Given the description of an element on the screen output the (x, y) to click on. 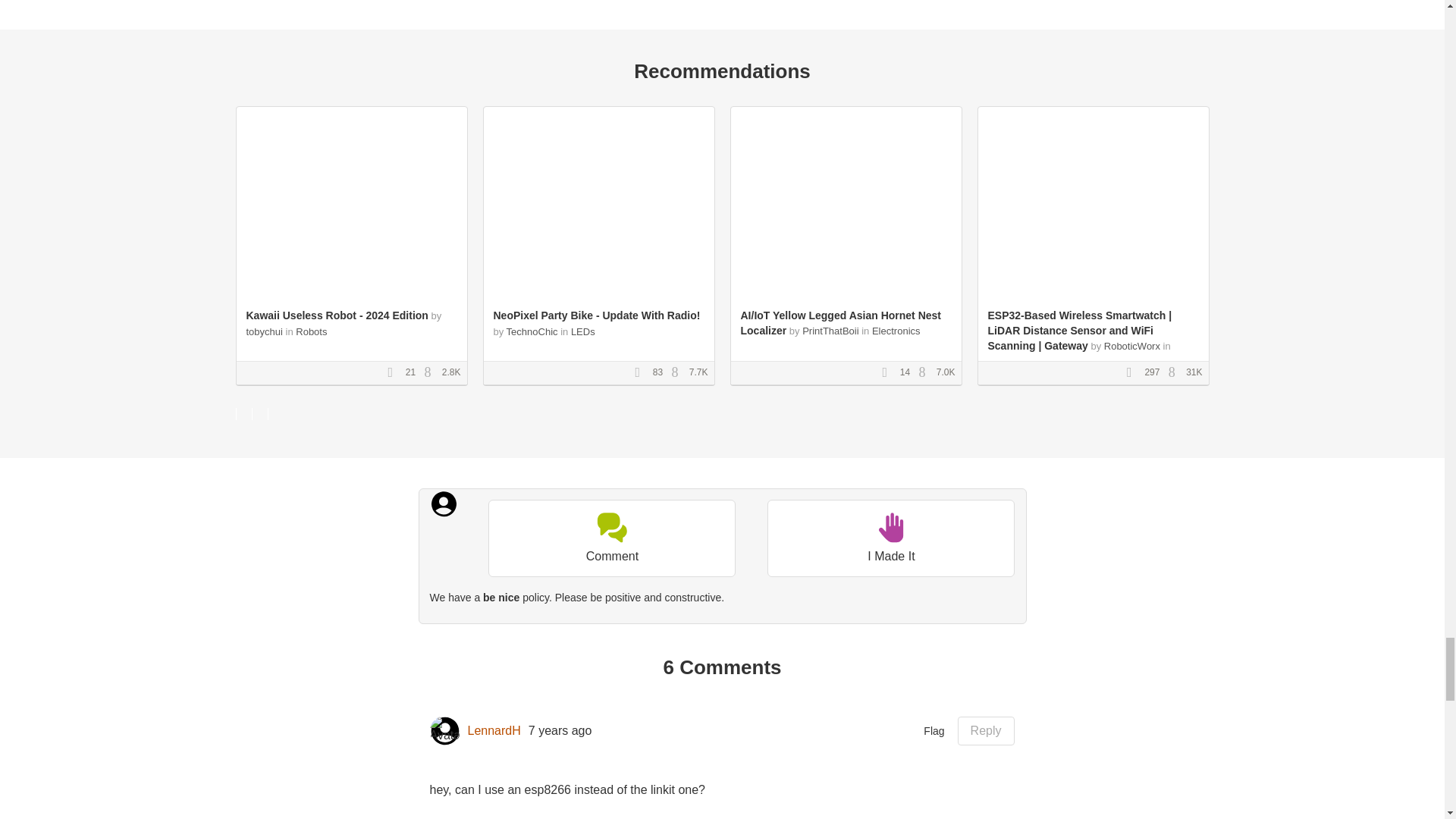
Views Count (678, 372)
Favorites Count (395, 372)
Views Count (431, 372)
Favorites Count (641, 372)
Favorites Count (1133, 372)
Views Count (1176, 372)
Views Count (925, 372)
Favorites Count (889, 372)
2017-11-07 07:26:48.0 (560, 730)
